Given the description of an element on the screen output the (x, y) to click on. 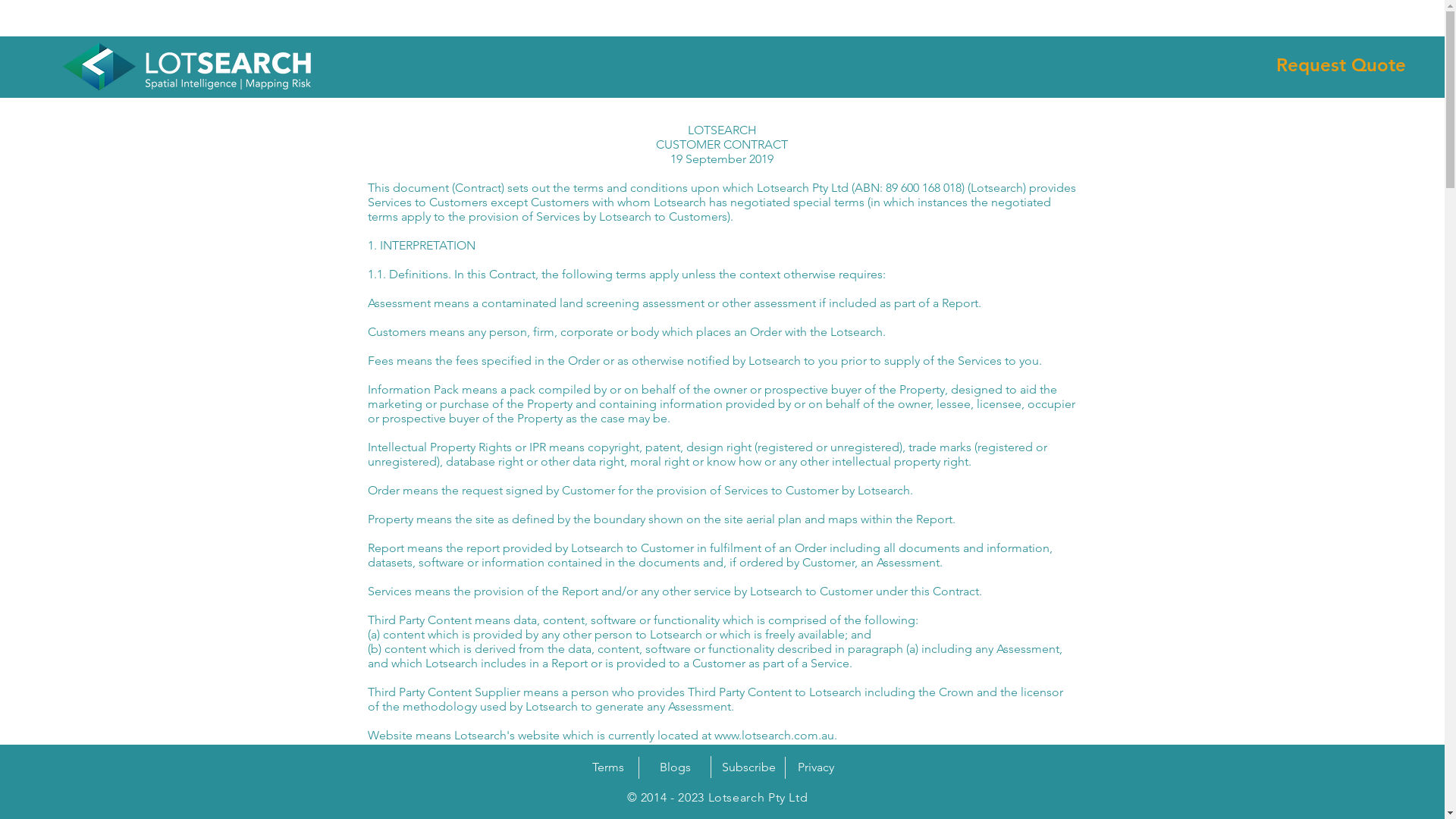
Subscribe Element type: text (748, 767)
Request Quote Element type: text (1340, 65)
Terms Element type: text (607, 767)
Blogs Element type: text (674, 767)
Privacy Element type: text (815, 767)
www.lotsearch.com.au Element type: text (774, 735)
